Given the description of an element on the screen output the (x, y) to click on. 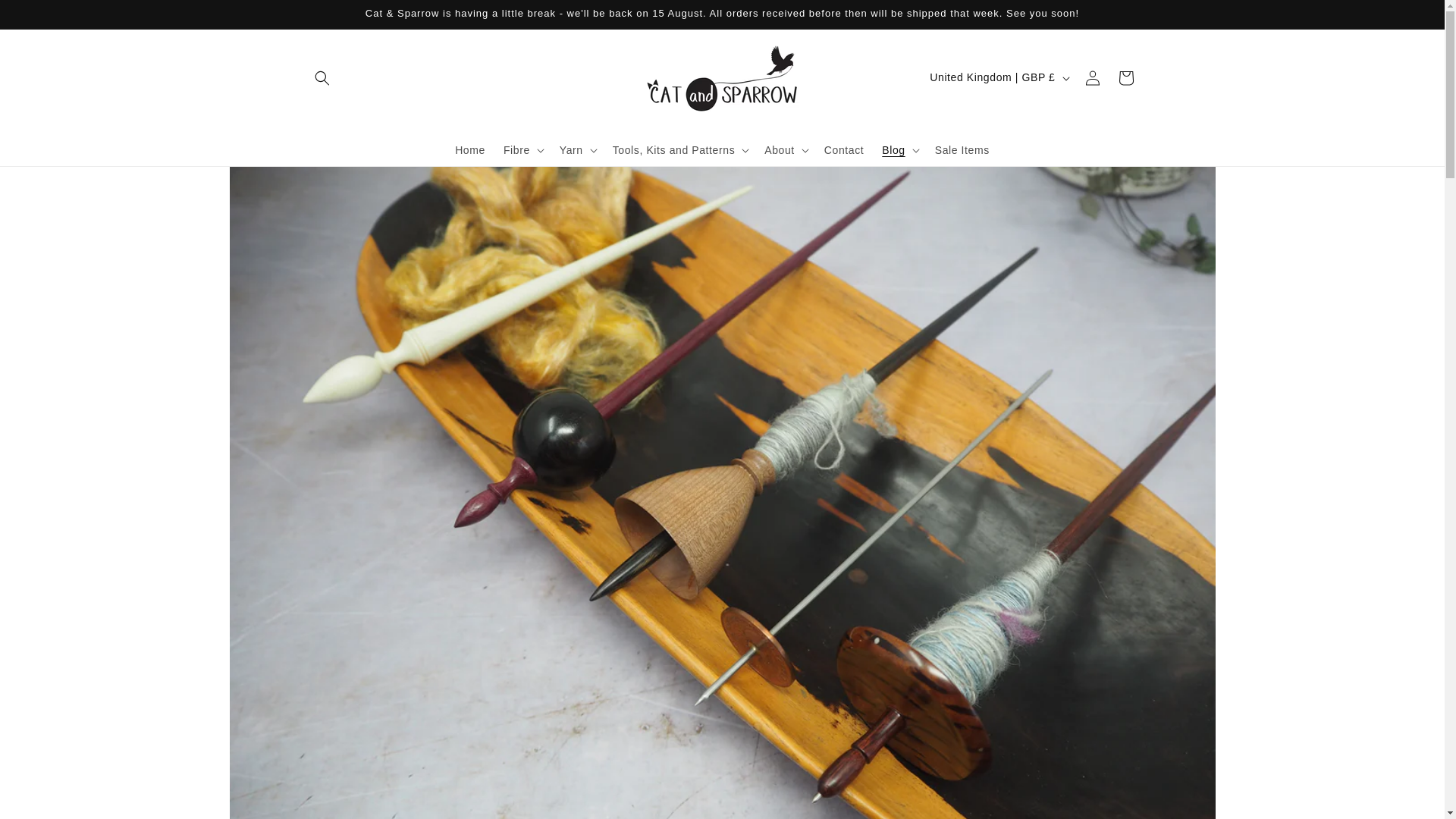
Skip to content (45, 17)
